Given the description of an element on the screen output the (x, y) to click on. 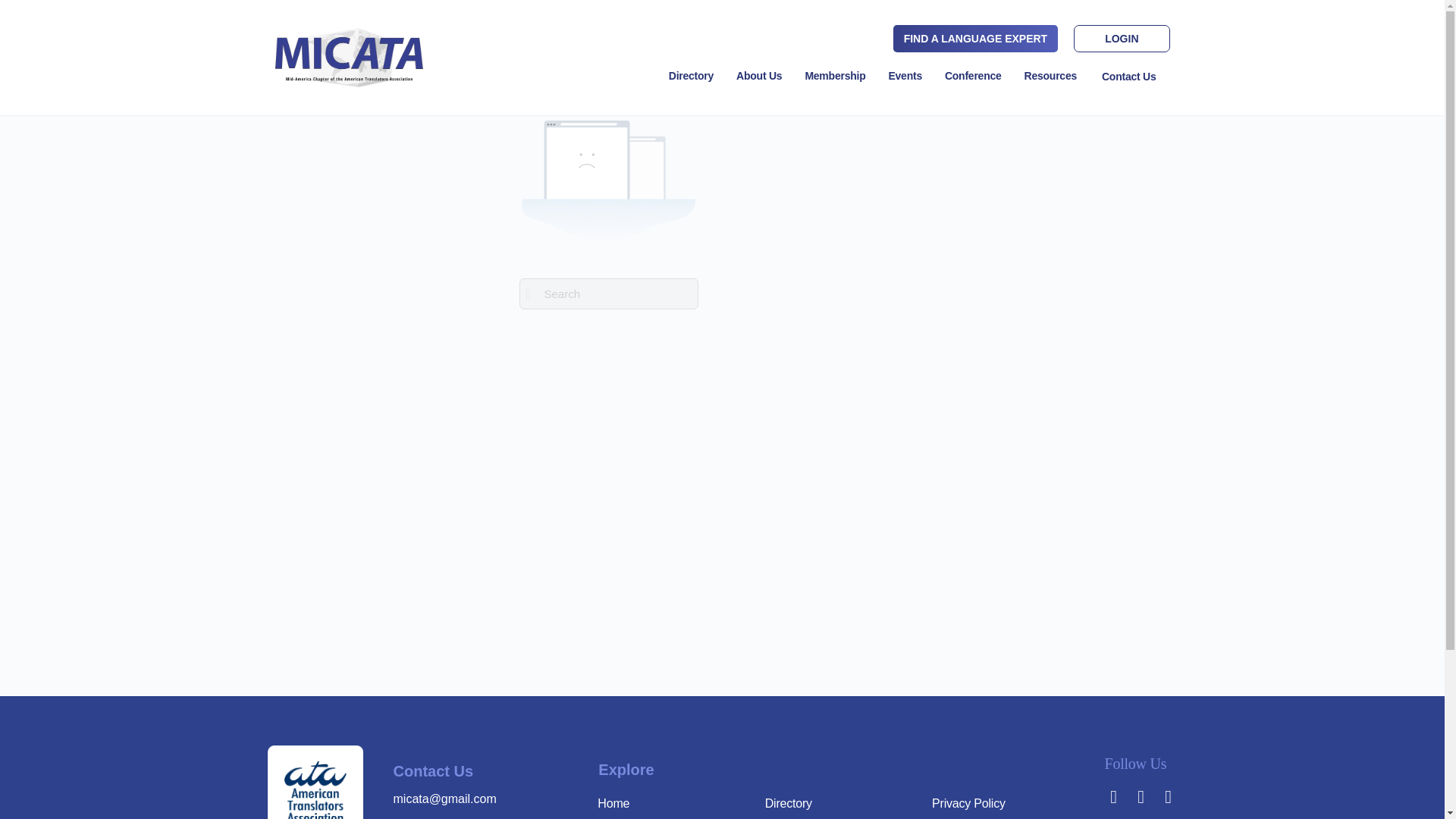
Resources (1050, 76)
LOGIN (1121, 38)
Contact Us (1128, 76)
Events (904, 76)
FIND A LANGUAGE EXPERT (976, 38)
Membership (834, 76)
Conference (973, 76)
Directory (690, 76)
About Us (759, 76)
